Given the description of an element on the screen output the (x, y) to click on. 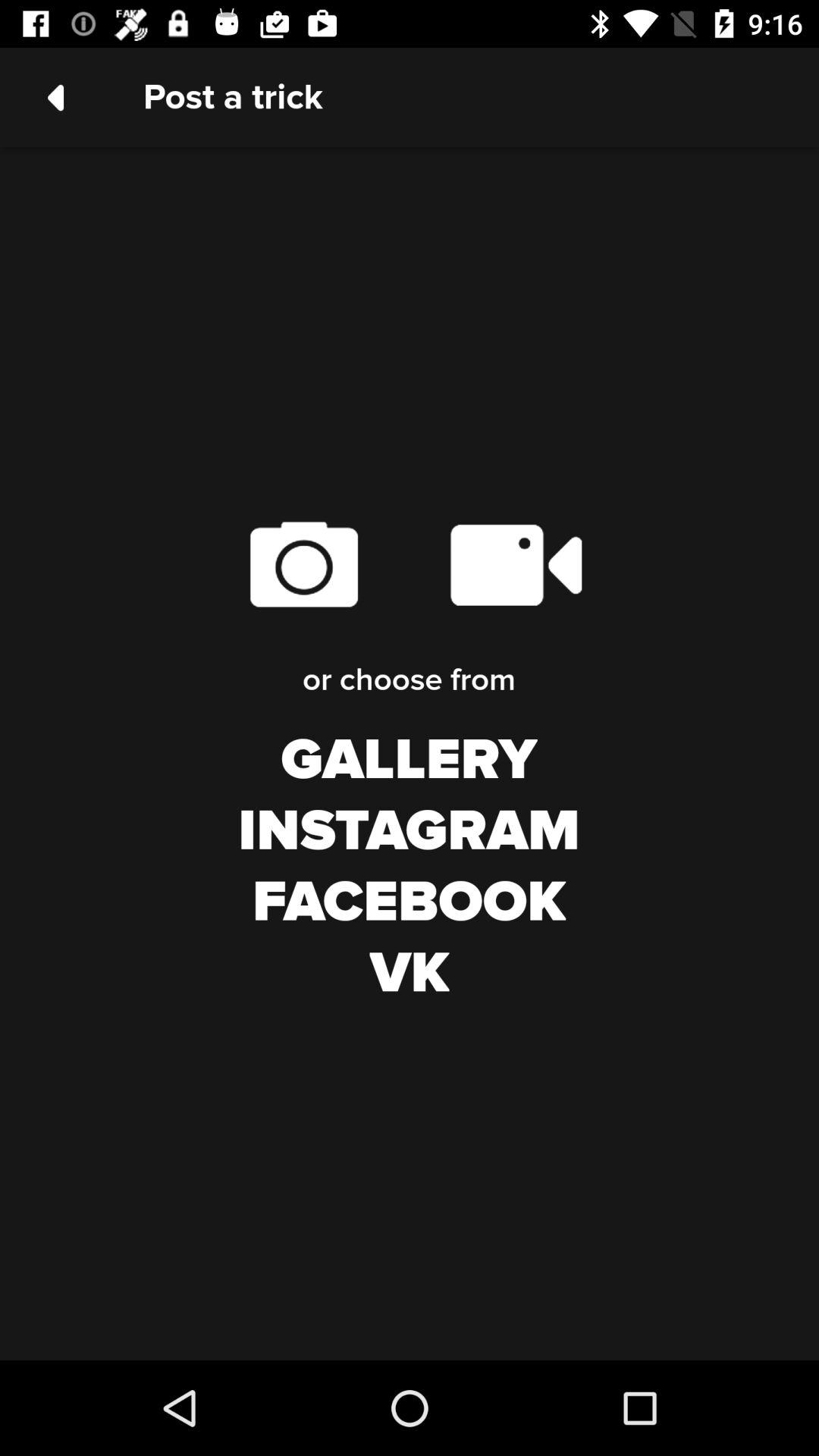
video (515, 564)
